Given the description of an element on the screen output the (x, y) to click on. 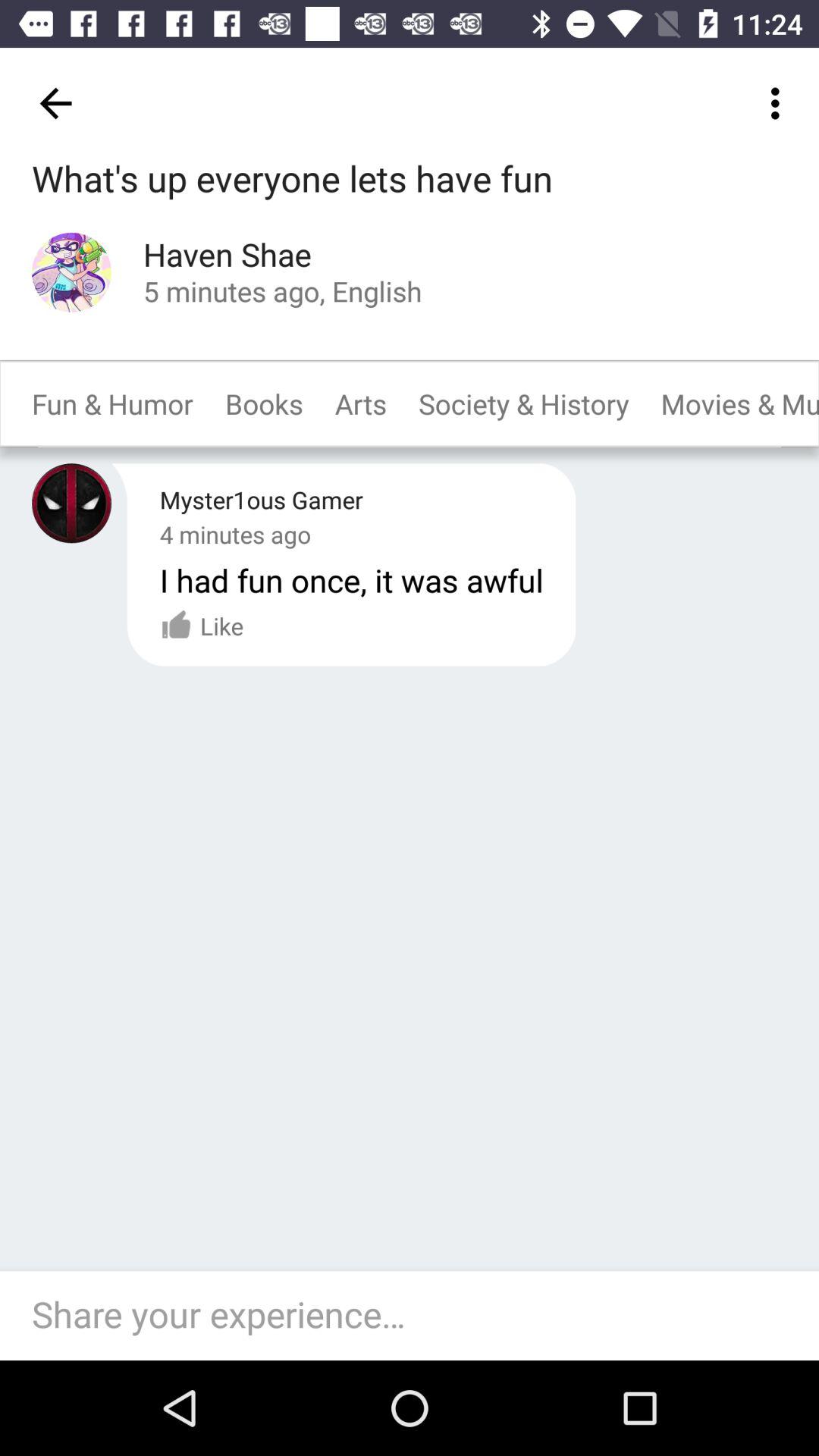
swipe until i had fun icon (351, 579)
